Given the description of an element on the screen output the (x, y) to click on. 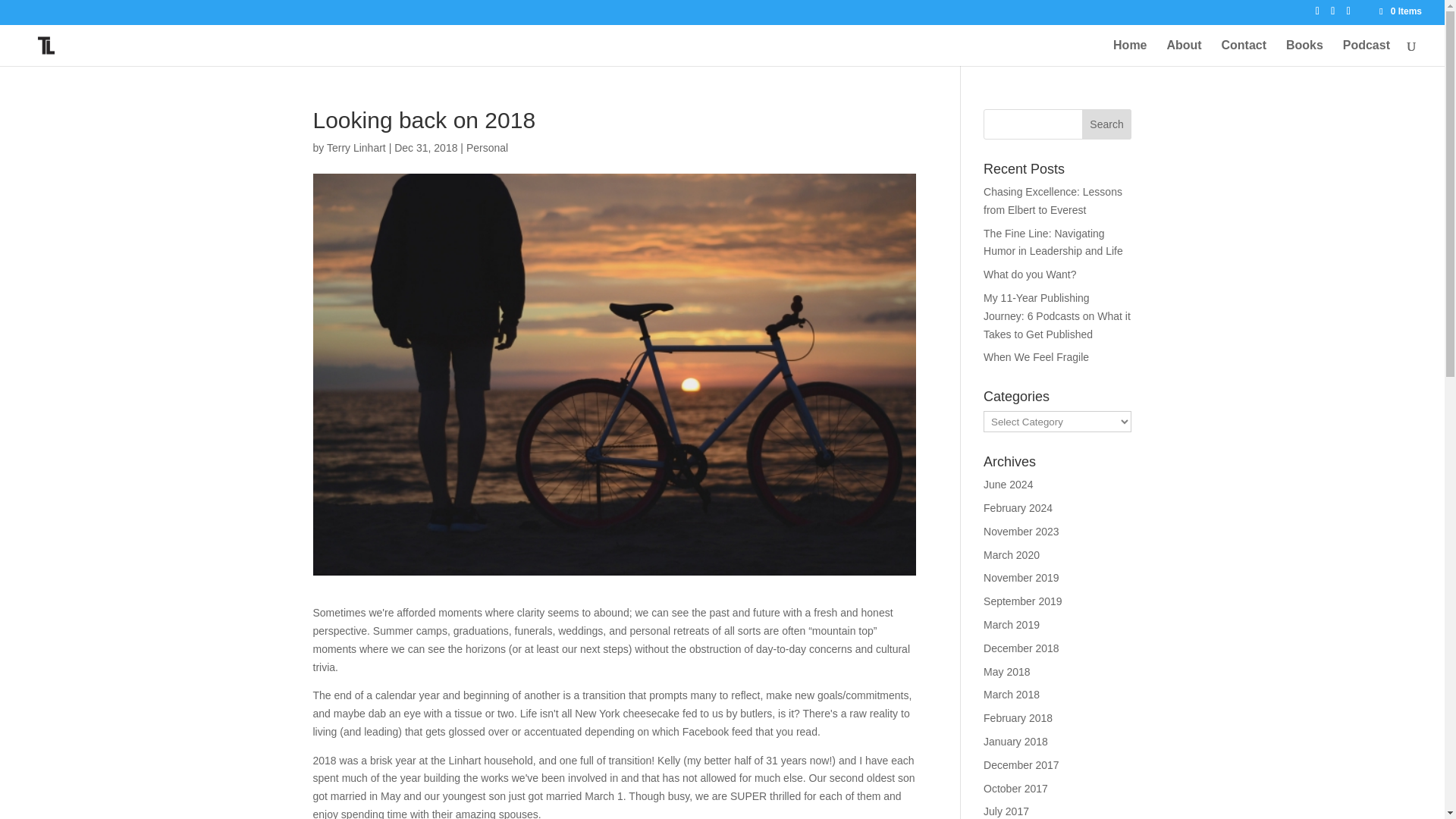
About (1183, 52)
The Fine Line: Navigating Humor in Leadership and Life (1053, 242)
February 2024 (1018, 508)
Terry Linhart (355, 147)
Contact (1243, 52)
Personal (486, 147)
March 2020 (1011, 554)
Books (1304, 52)
Posts by Terry Linhart (355, 147)
When We Feel Fragile (1036, 357)
Search (1106, 123)
June 2024 (1008, 484)
Chasing Excellence: Lessons from Elbert to Everest (1053, 200)
Home (1130, 52)
